Given the description of an element on the screen output the (x, y) to click on. 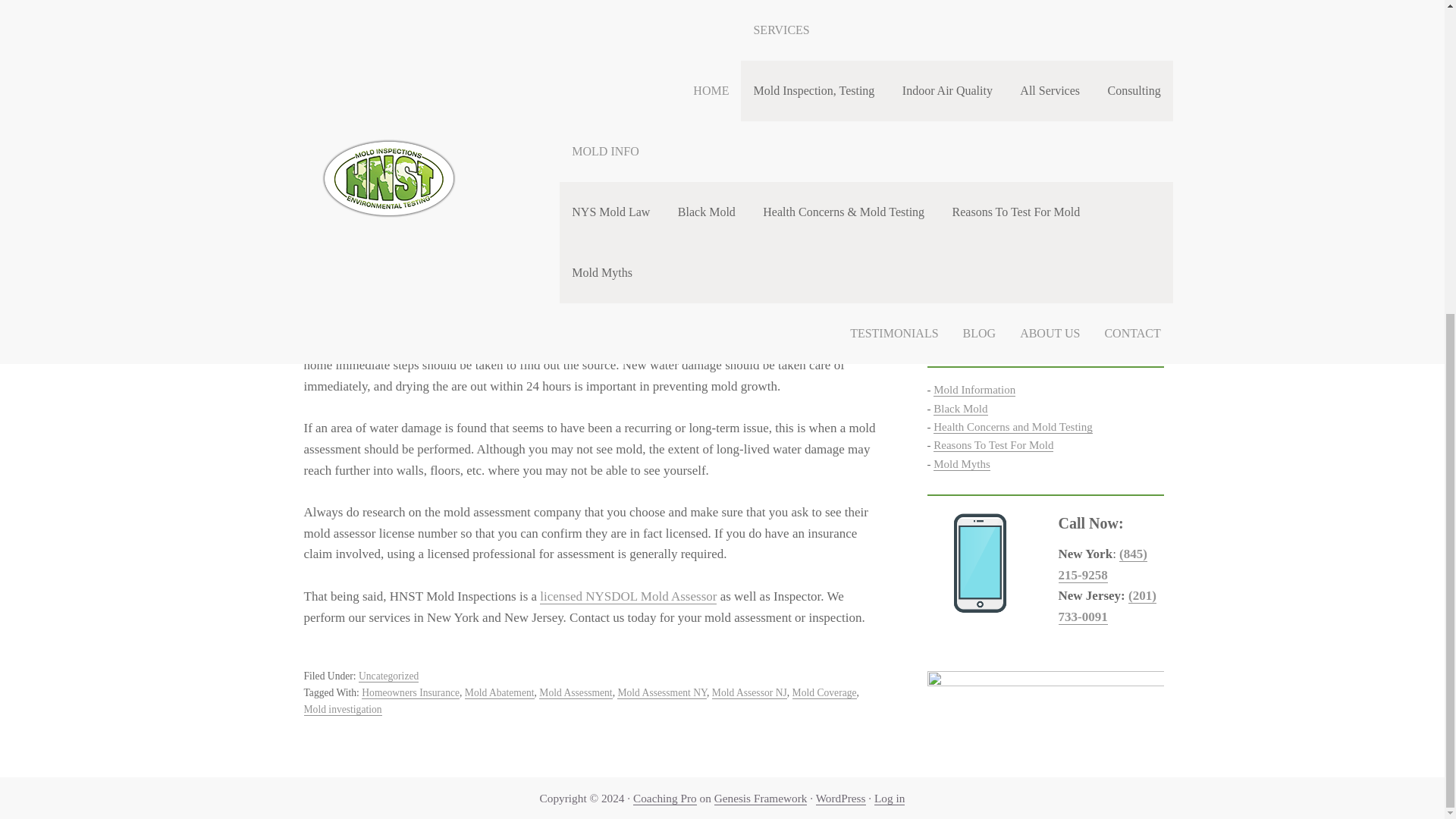
MOLD INSPECTIONS (987, 173)
Uncategorized (388, 676)
licensed NYSDOL Mold Assessor (628, 596)
Mold Assessment (574, 693)
ASBESTOS TESTING (986, 190)
Mold Assessor NJ (749, 693)
LEAD TESTING (973, 207)
Mold investigation (341, 709)
MOLD TESTING (974, 155)
John Skelly (399, 160)
Homeowners Insurance (410, 693)
Mold Abatement (499, 693)
Mold Coverage (824, 693)
Should I Get a Mold Inspection When Buying a New Home? (1038, 21)
